Given the description of an element on the screen output the (x, y) to click on. 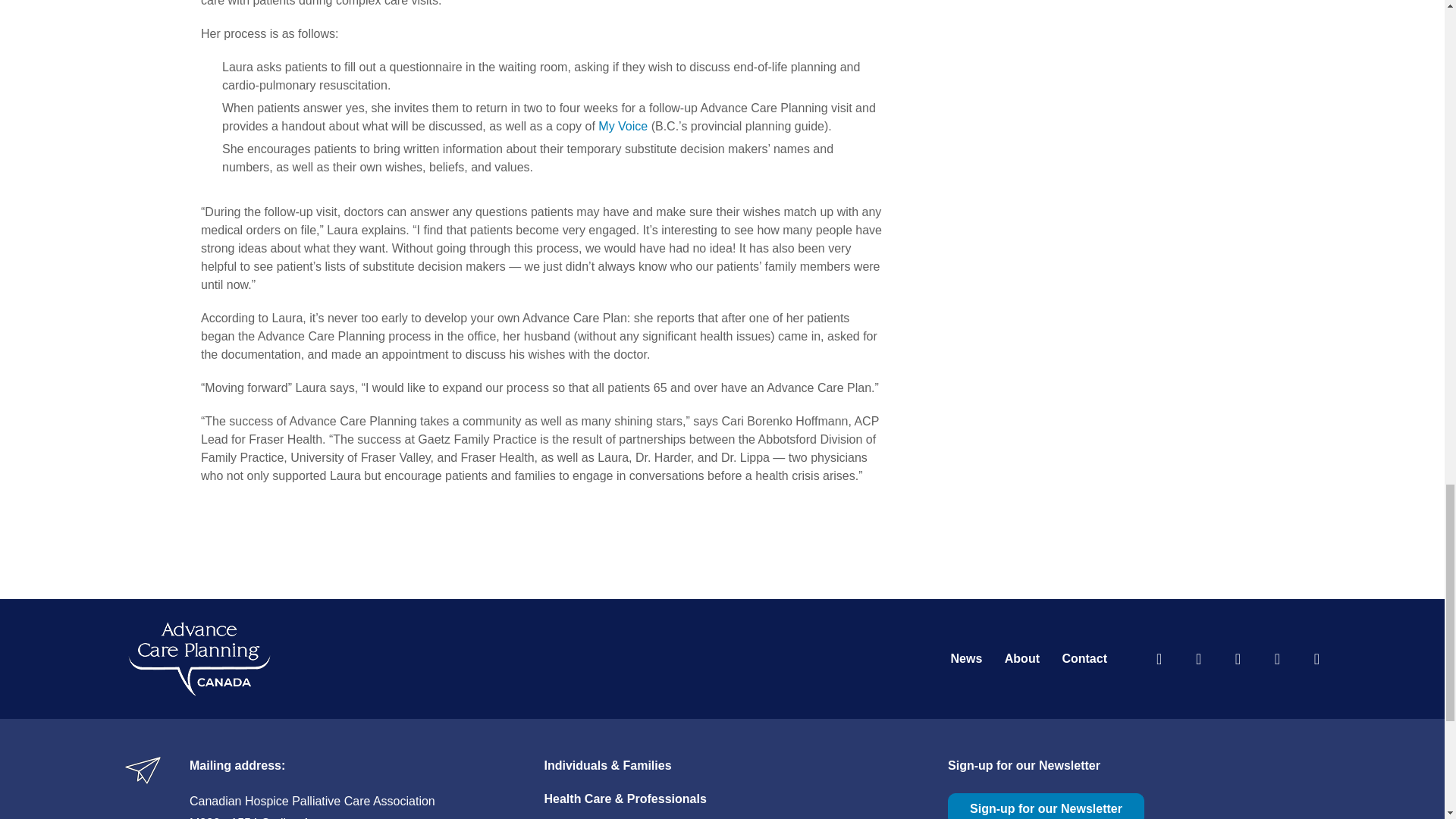
About (1021, 658)
Contact (1083, 658)
My Voice (622, 125)
News (966, 658)
